Given the description of an element on the screen output the (x, y) to click on. 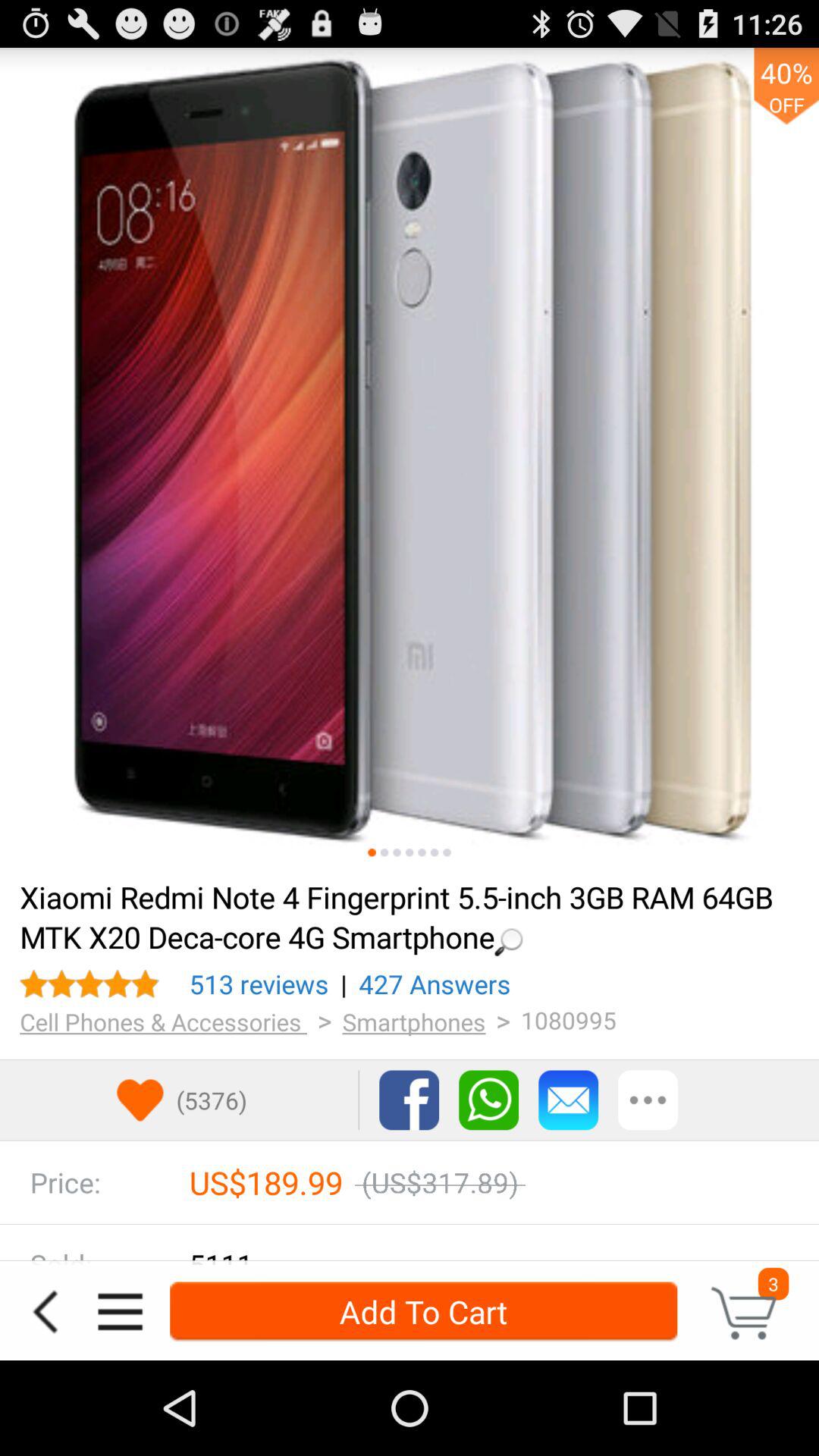
contact seller (568, 1100)
